Given the description of an element on the screen output the (x, y) to click on. 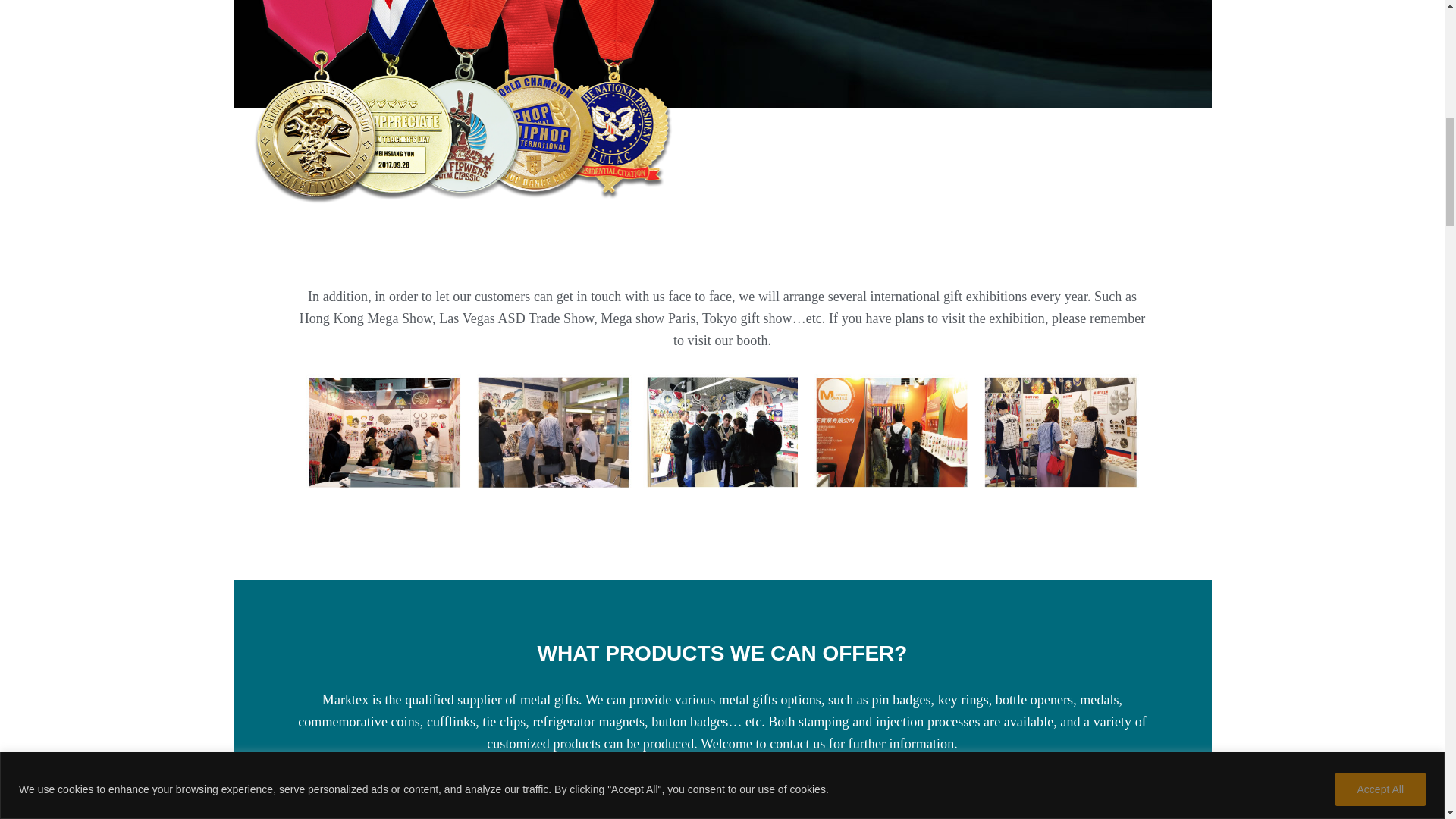
coin (833, 790)
keychain (1053, 790)
medal (469, 120)
lapel pin (390, 790)
medal (611, 790)
international gift shows (722, 430)
